Given the description of an element on the screen output the (x, y) to click on. 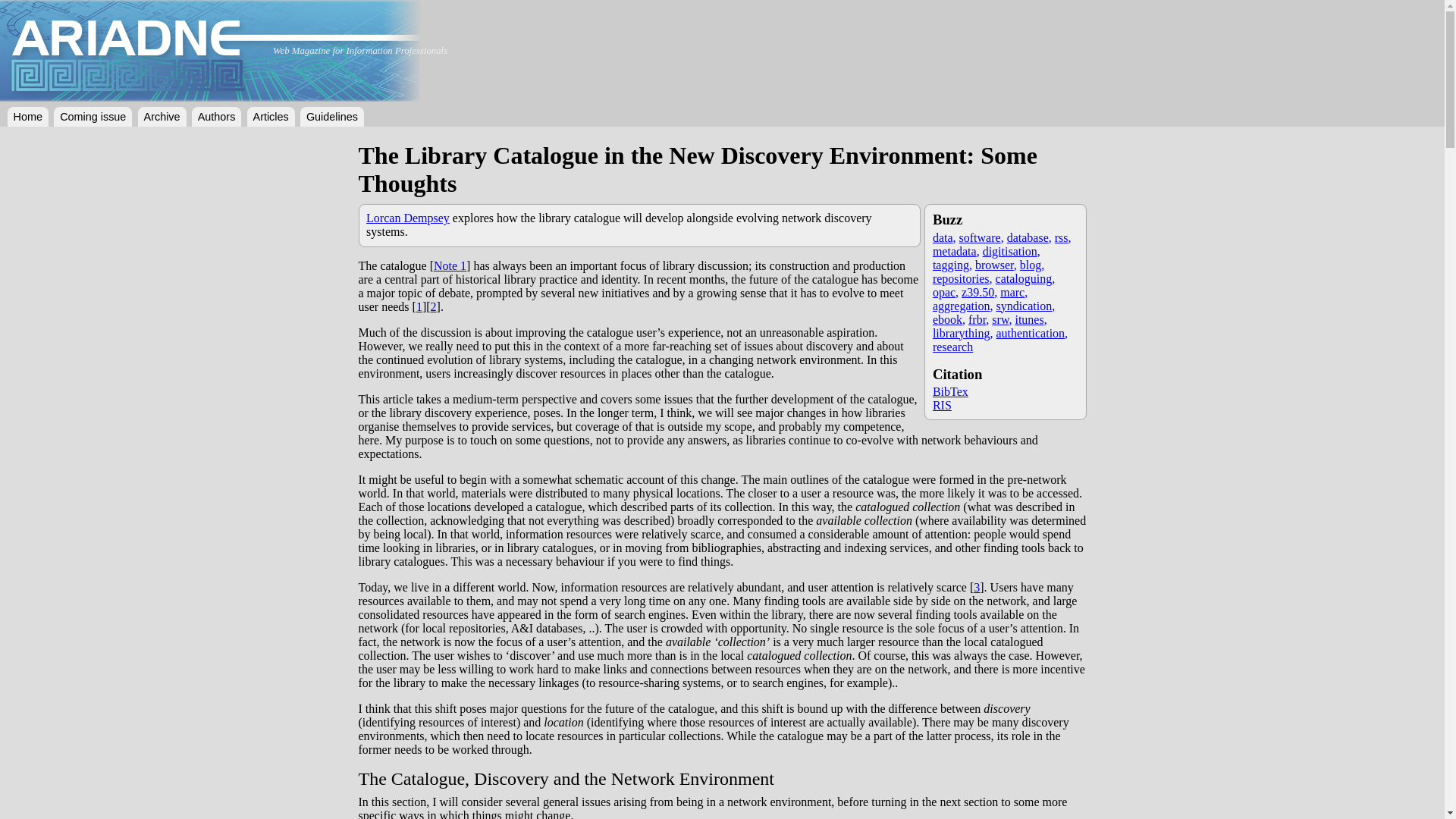
frbr (978, 318)
metadata (956, 250)
itunes (1030, 318)
opac (945, 291)
Guidelines (331, 116)
data (944, 237)
ebook (949, 318)
digitisation (1011, 250)
database (1029, 237)
research (952, 346)
